Given the description of an element on the screen output the (x, y) to click on. 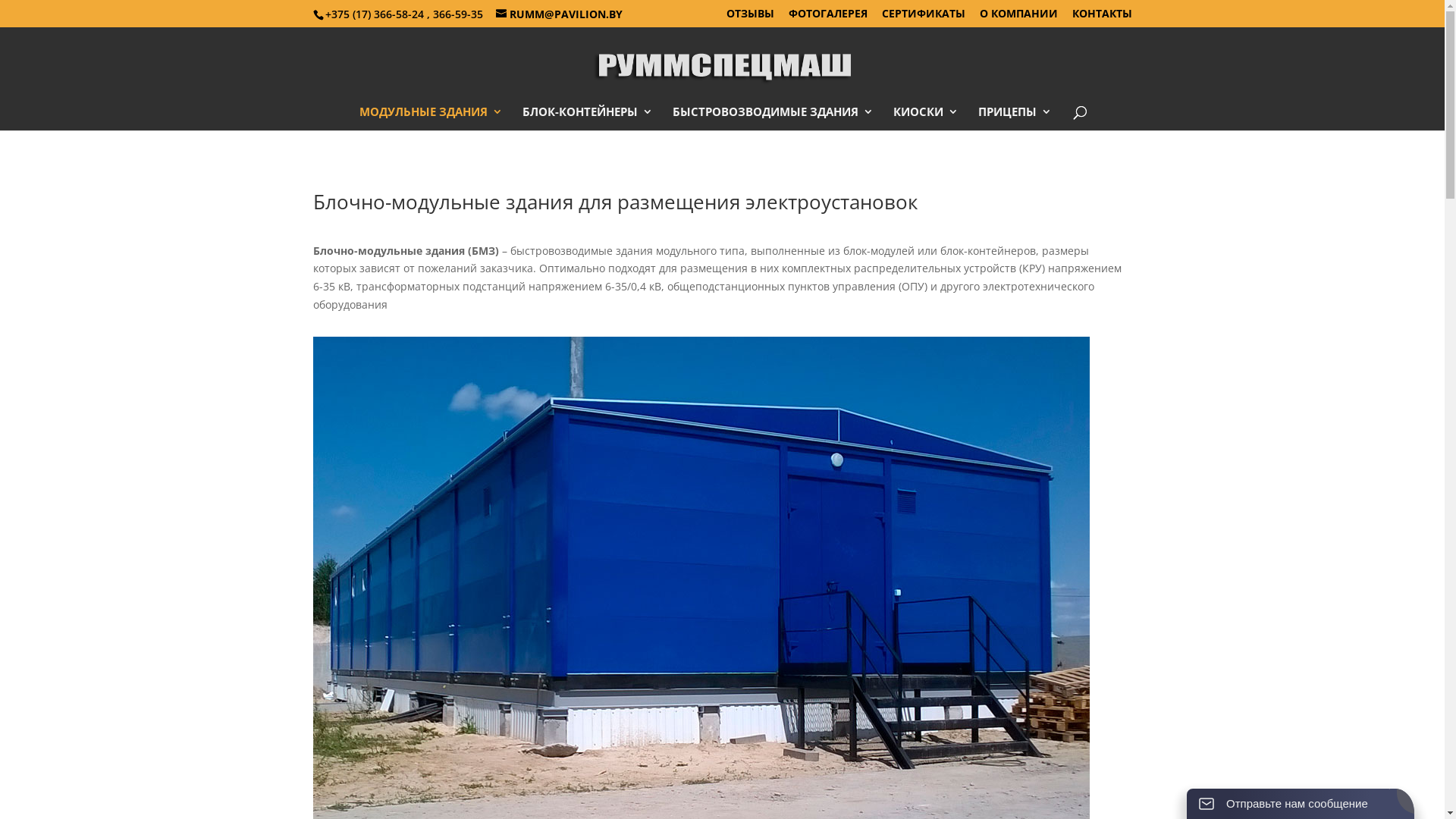
RUMM@PAVILION.BY Element type: text (558, 13)
